Given the description of an element on the screen output the (x, y) to click on. 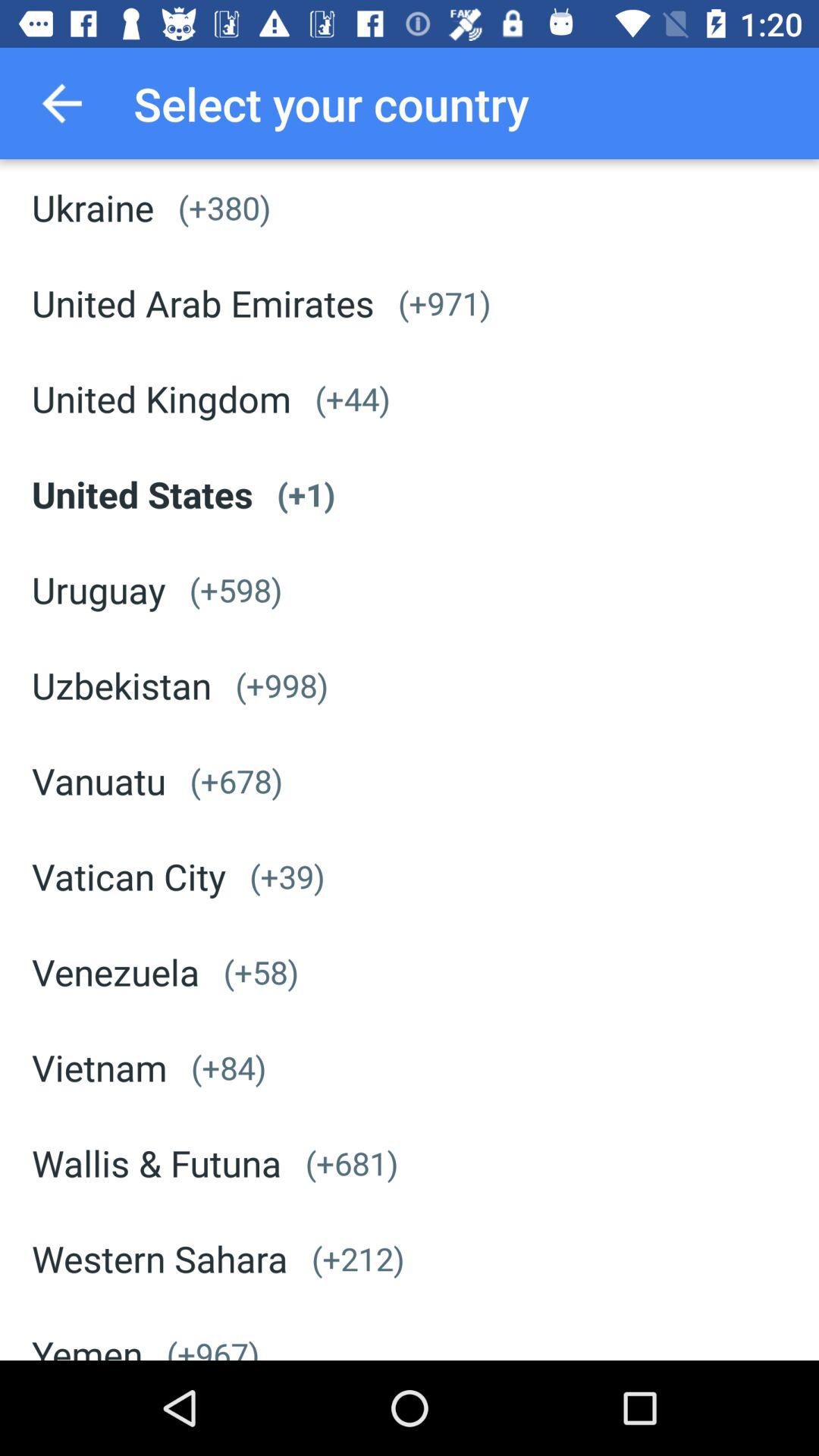
swipe to ukraine icon (92, 207)
